Given the description of an element on the screen output the (x, y) to click on. 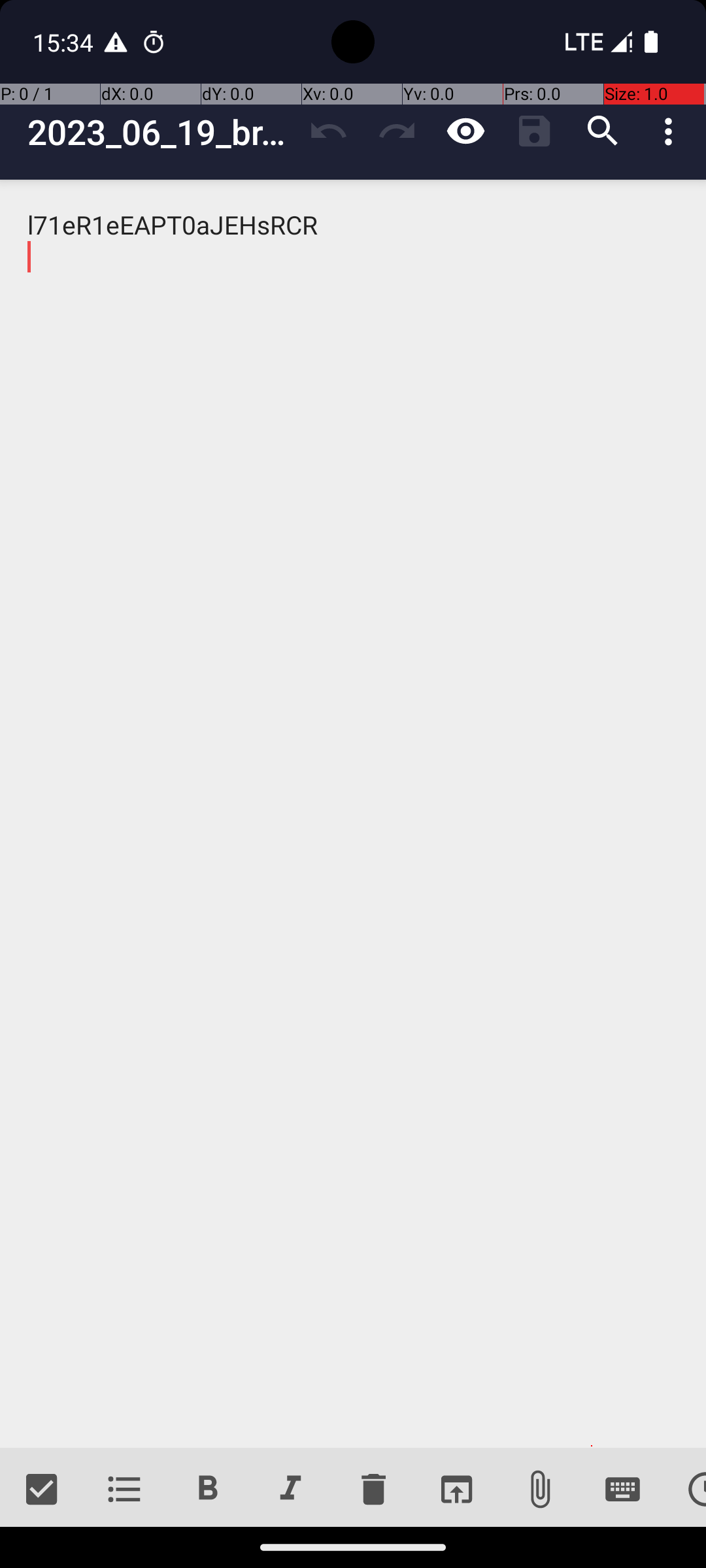
2023_06_19_brave_bear_2ipi Element type: android.widget.TextView (160, 131)
Undo Element type: android.widget.TextView (328, 131)
Redo Element type: android.widget.TextView (396, 131)
View mode Element type: android.widget.TextView (465, 131)
l71eR1eEAPT0aJEHsRCR
 Element type: android.widget.EditText (353, 813)
Check list Element type: android.widget.ImageView (41, 1488)
Unordered list Element type: android.widget.ImageView (124, 1488)
Bold Element type: android.widget.ImageView (207, 1488)
Italic Element type: android.widget.ImageView (290, 1488)
Delete lines Element type: android.widget.ImageView (373, 1488)
Open link Element type: android.widget.ImageView (456, 1488)
Attach Element type: android.widget.ImageView (539, 1488)
Special Key Element type: android.widget.ImageView (622, 1488)
Date and time Element type: android.widget.ImageView (685, 1488)
